Given the description of an element on the screen output the (x, y) to click on. 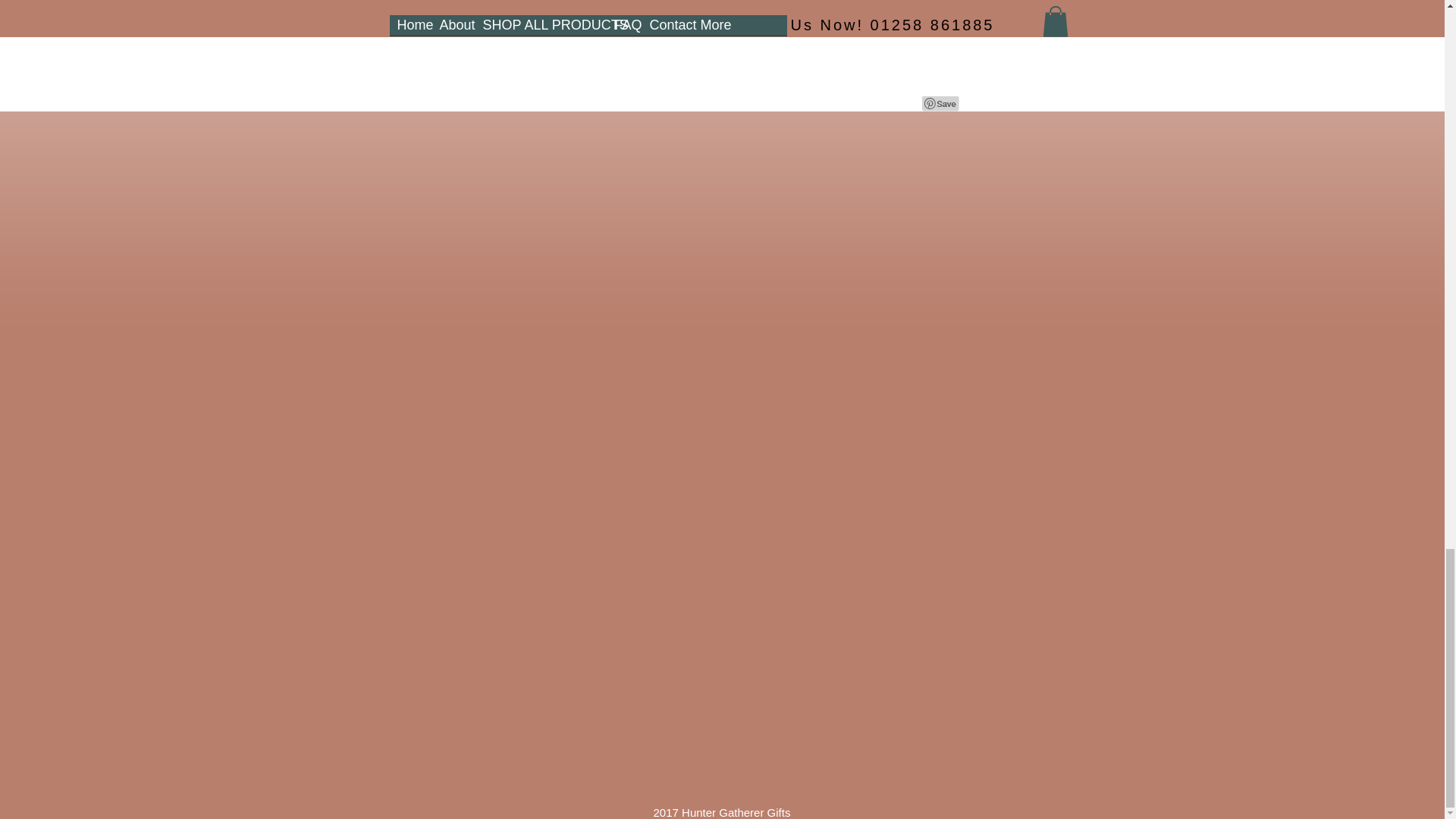
Pin to Pinterest (940, 103)
